Given the description of an element on the screen output the (x, y) to click on. 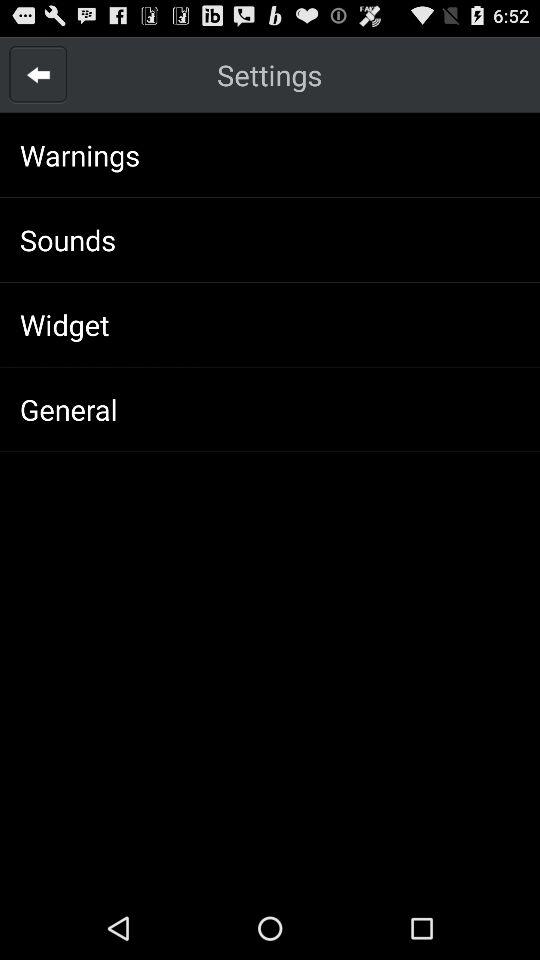
swipe until the warnings (79, 154)
